Given the description of an element on the screen output the (x, y) to click on. 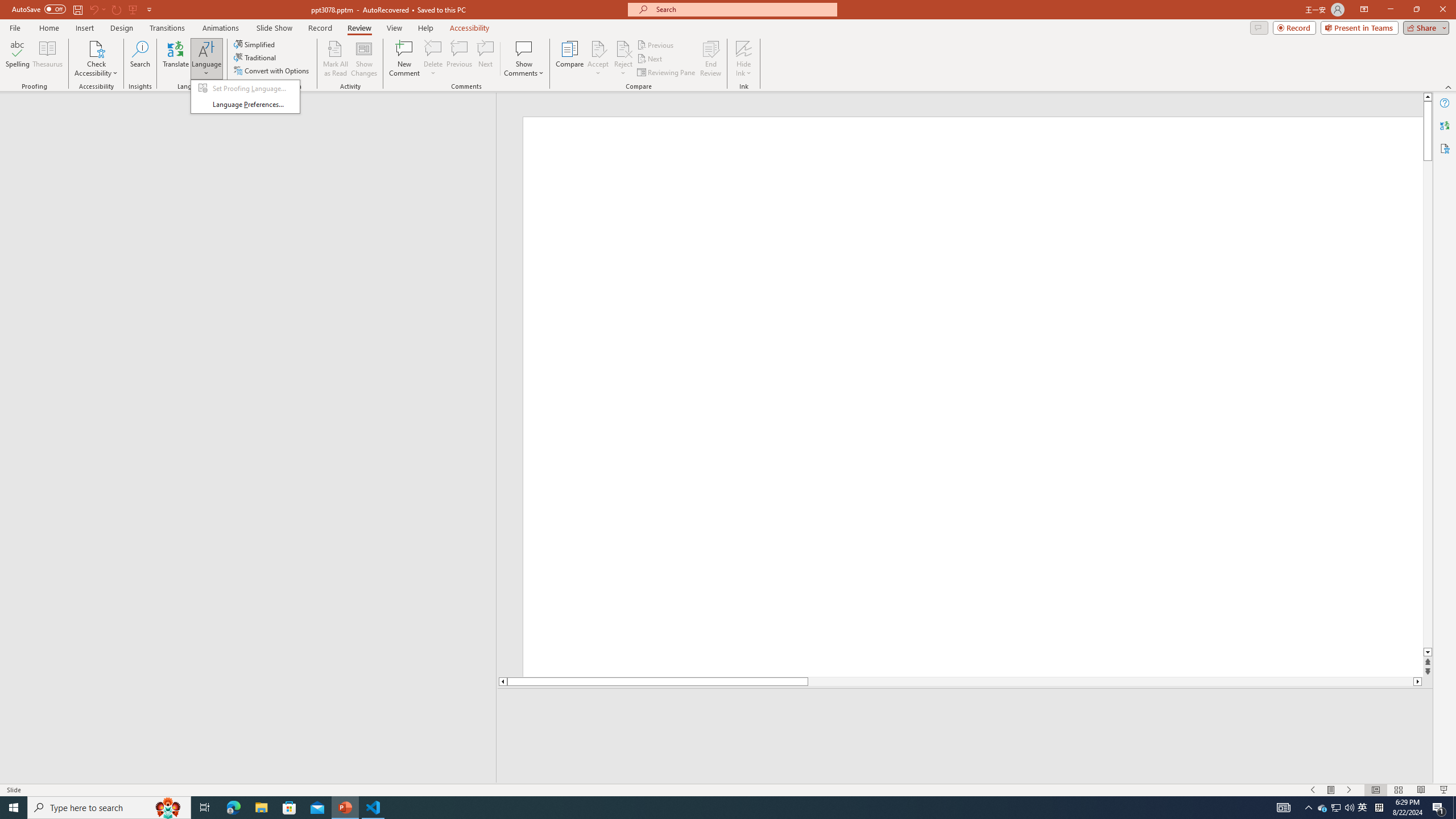
Slide Notes (965, 705)
Accept Change (598, 48)
Show Comments (524, 58)
